Given the description of an element on the screen output the (x, y) to click on. 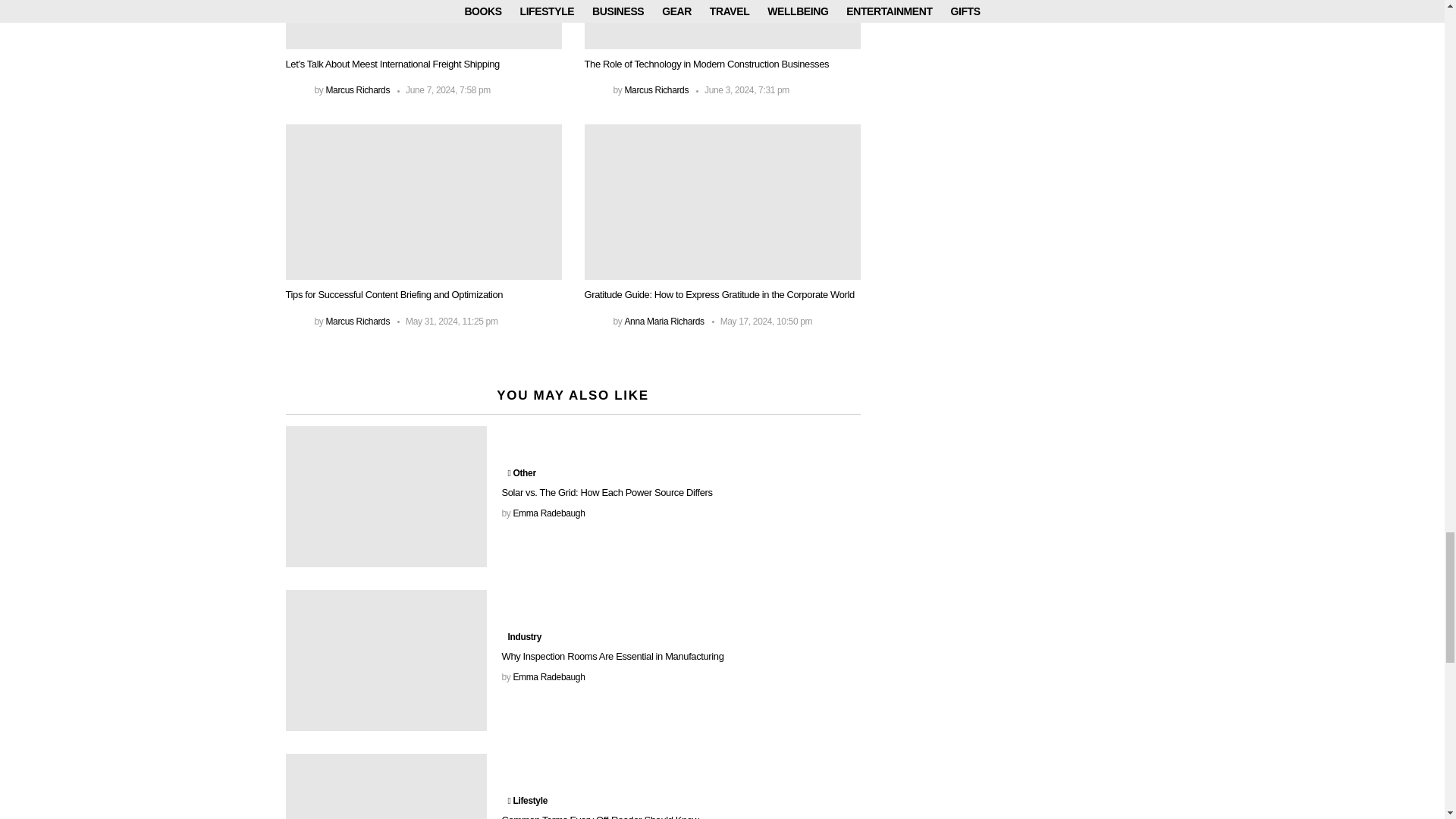
Tips for Successful Content Briefing and Optimization (422, 202)
The Role of Technology in Modern Construction Businesses (721, 24)
Posts by Marcus Richards (357, 321)
Posts by Emma Radebaugh (548, 512)
Posts by Marcus Richards (357, 90)
Why Inspection Rooms Are Essential in Manufacturing (385, 660)
Solar vs. The Grid: How Each Power Source Differs (385, 496)
Posts by Emma Radebaugh (548, 676)
Posts by Marcus Richards (656, 90)
Common Terms Every Off-Roader Should Know (385, 786)
Posts by Anna Maria Richards (663, 321)
